Given the description of an element on the screen output the (x, y) to click on. 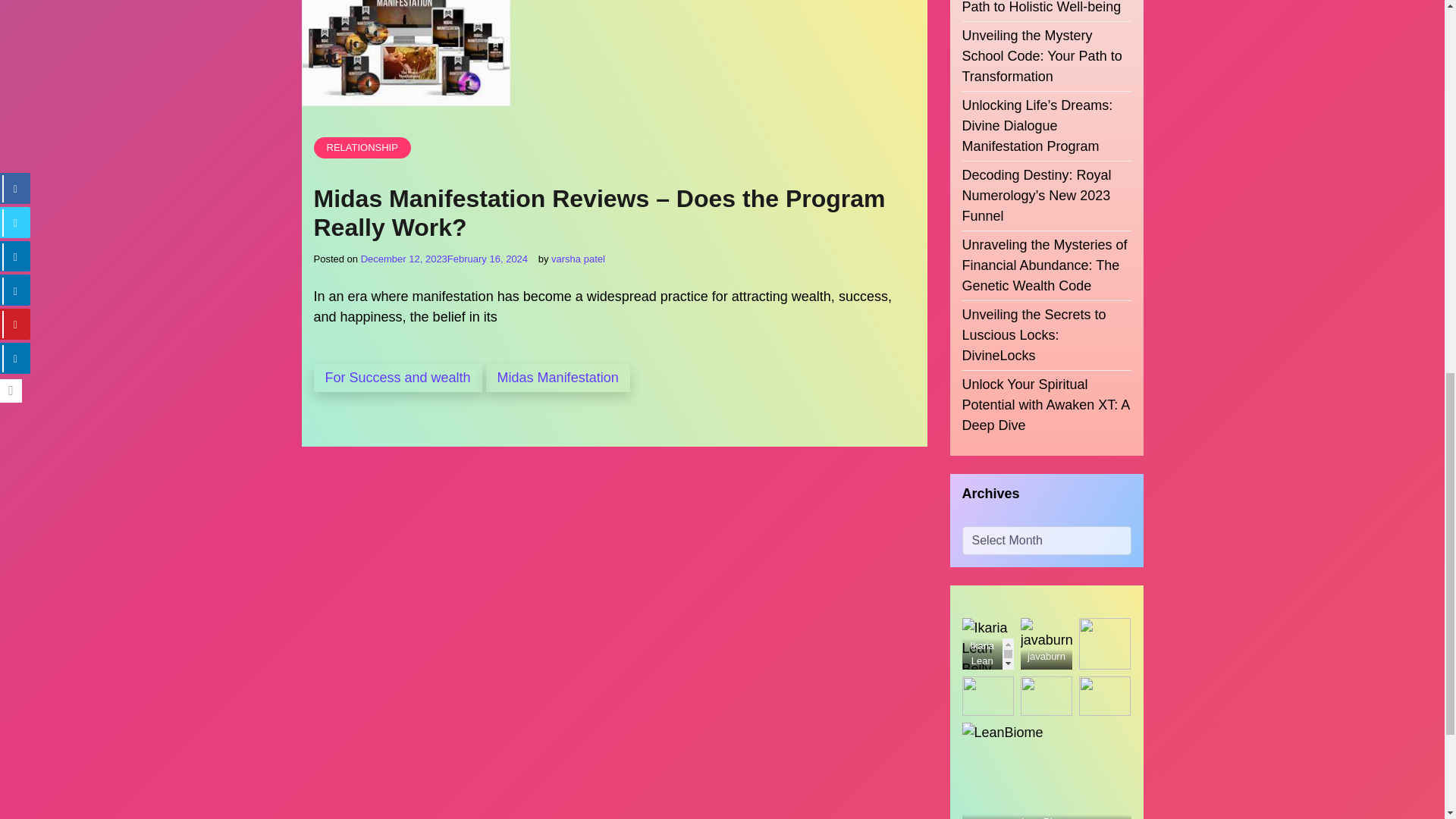
varsha patel (578, 258)
RELATIONSHIP (362, 147)
For Success and wealth (397, 377)
Unveiling the Secrets to Luscious Locks: DivineLocks (1045, 317)
Midas Manifestation (558, 377)
Unlock Your Spiritual Potential with Awaken XT: A Deep Dive (1045, 386)
December 12, 2023February 16, 2024 (444, 258)
